Given the description of an element on the screen output the (x, y) to click on. 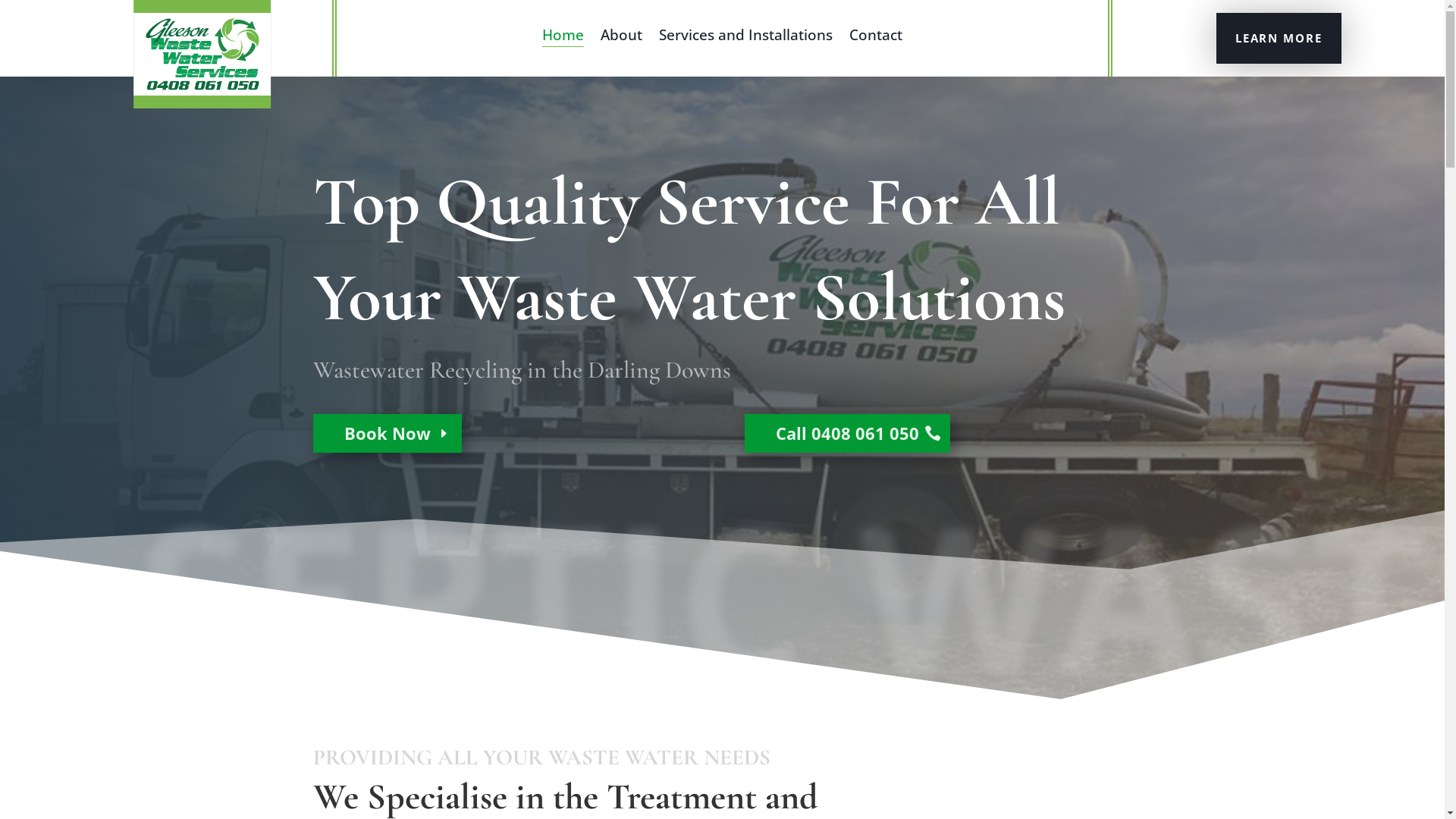
Services and Installations Element type: text (745, 37)
Book Now Element type: text (386, 433)
Contact Element type: text (875, 37)
Call 0408 061 050 Element type: text (847, 433)
About Element type: text (621, 37)
LEARN MORE Element type: text (1278, 38)
Home Element type: text (562, 37)
